Given the description of an element on the screen output the (x, y) to click on. 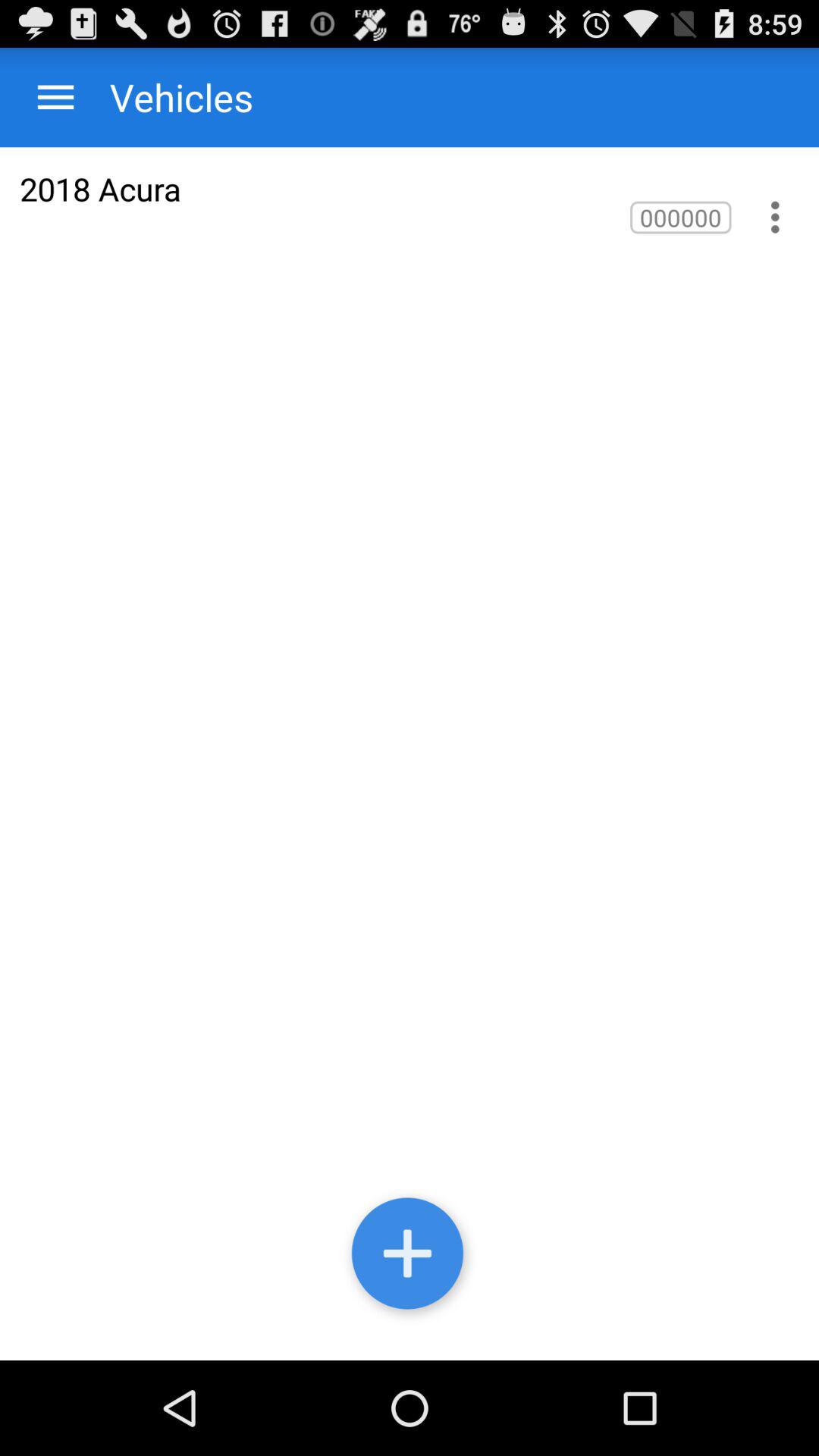
open the item next to 2018 acura (680, 217)
